Given the description of an element on the screen output the (x, y) to click on. 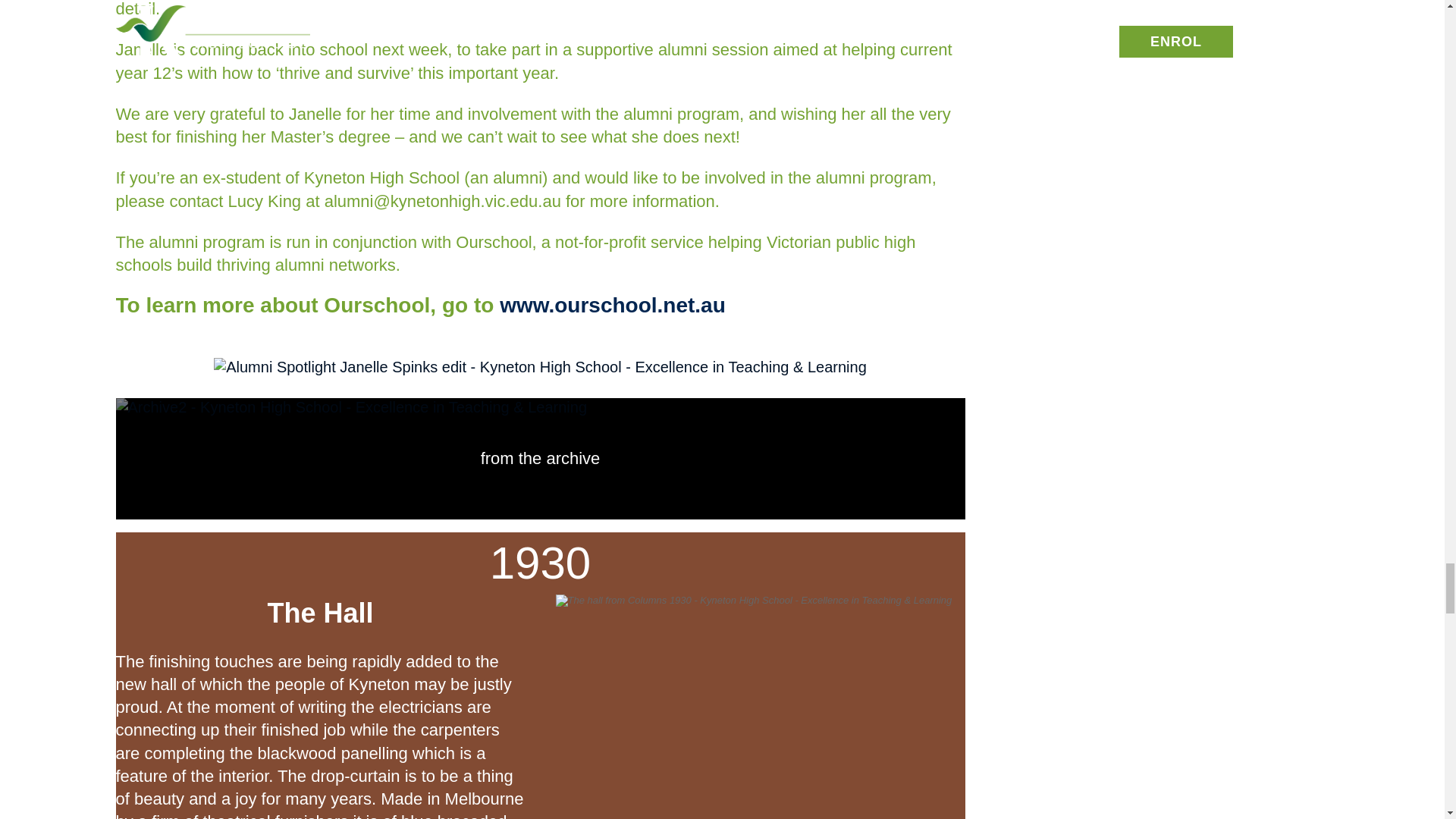
www.ourschool.net.au (612, 304)
